Given the description of an element on the screen output the (x, y) to click on. 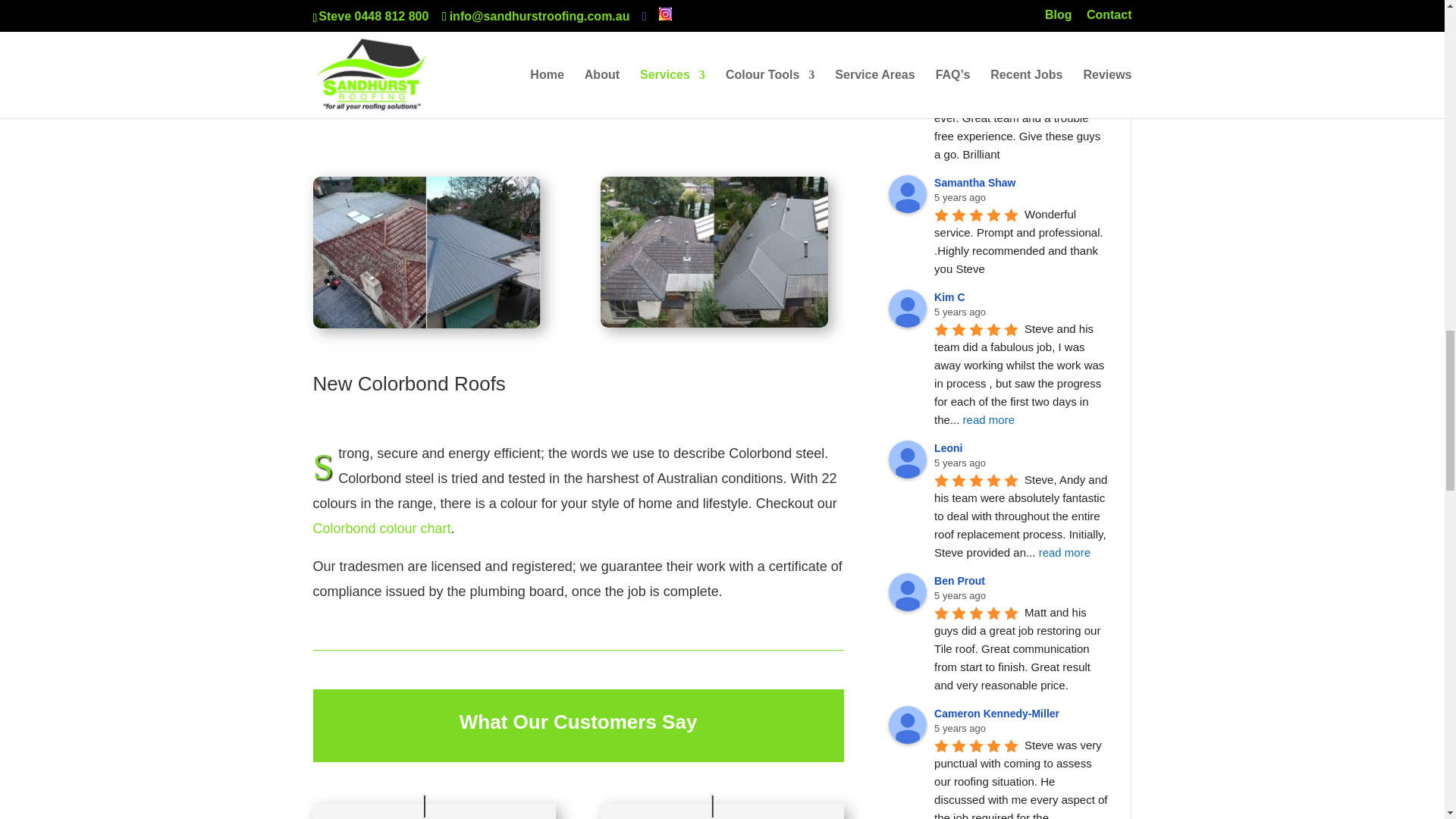
Kim C (907, 308)
Ben Prout (907, 591)
Steve Wood (907, 79)
Leoni (907, 459)
Samantha Shaw (907, 193)
Cameron Kennedy-Miller (907, 724)
